Given the description of an element on the screen output the (x, y) to click on. 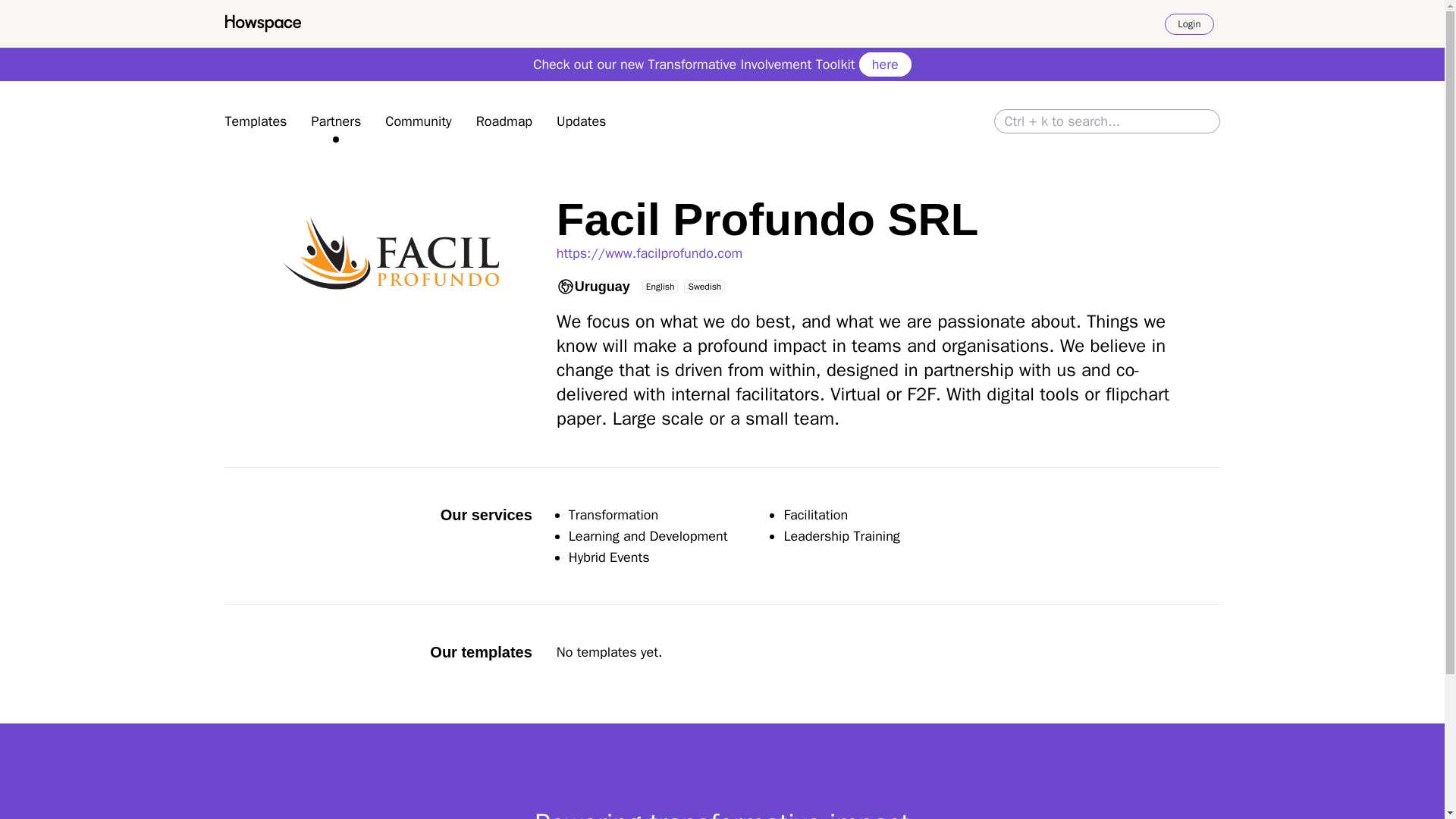
Login (1188, 24)
Templates (255, 120)
here (885, 64)
Partners (336, 120)
Community (418, 120)
Updates (580, 120)
Roadmap (504, 120)
